Given the description of an element on the screen output the (x, y) to click on. 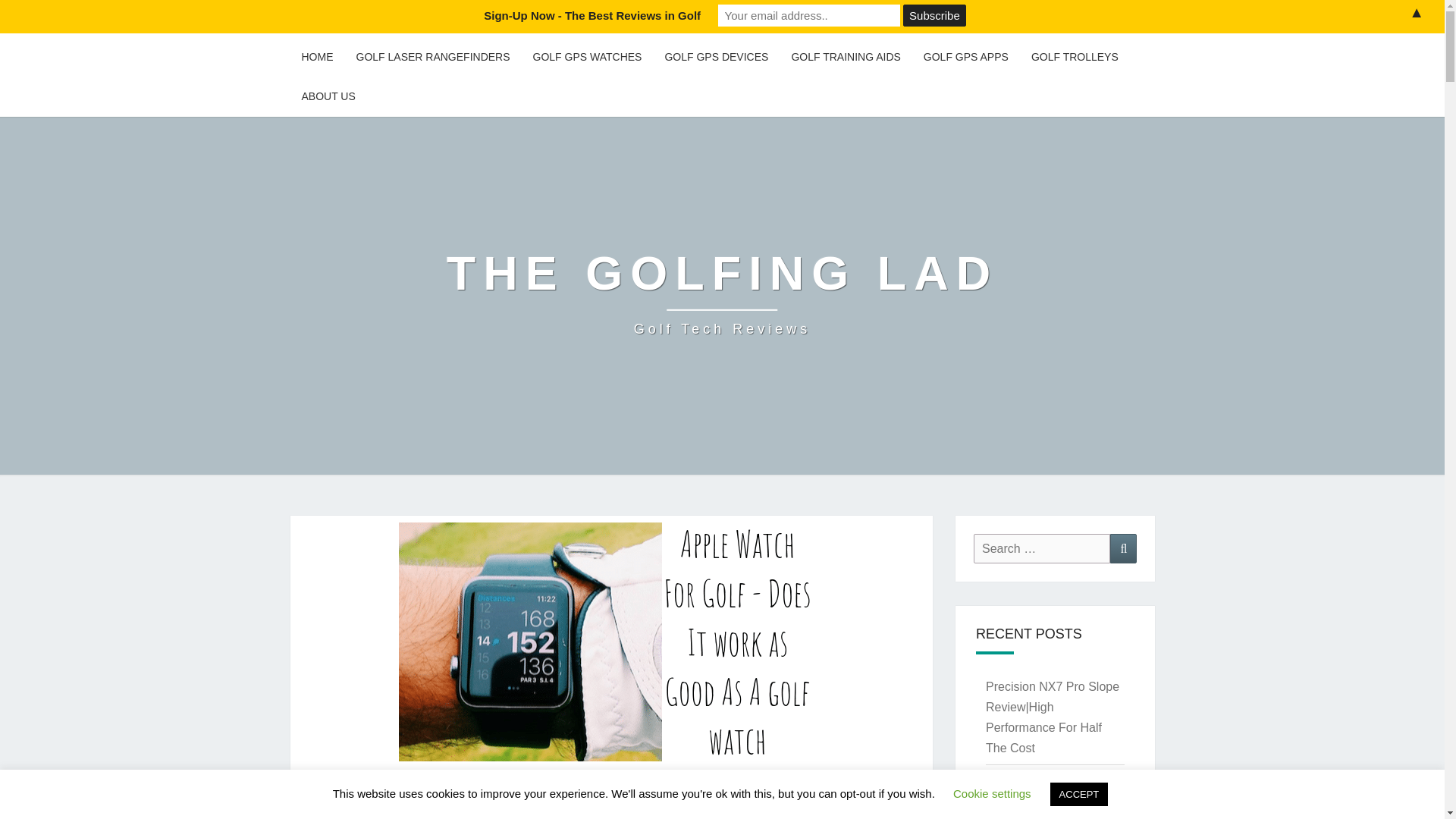
GOLF TROLLEYS (1074, 56)
GOLF GPS DEVICES (715, 56)
GOLF GPS APPS (966, 56)
HOME (316, 56)
Search for: (1041, 548)
Subscribe (721, 292)
THE GOLFING LAD (934, 15)
ABOUT US (370, 18)
GOLF TRAINING AIDS (327, 96)
